Given the description of an element on the screen output the (x, y) to click on. 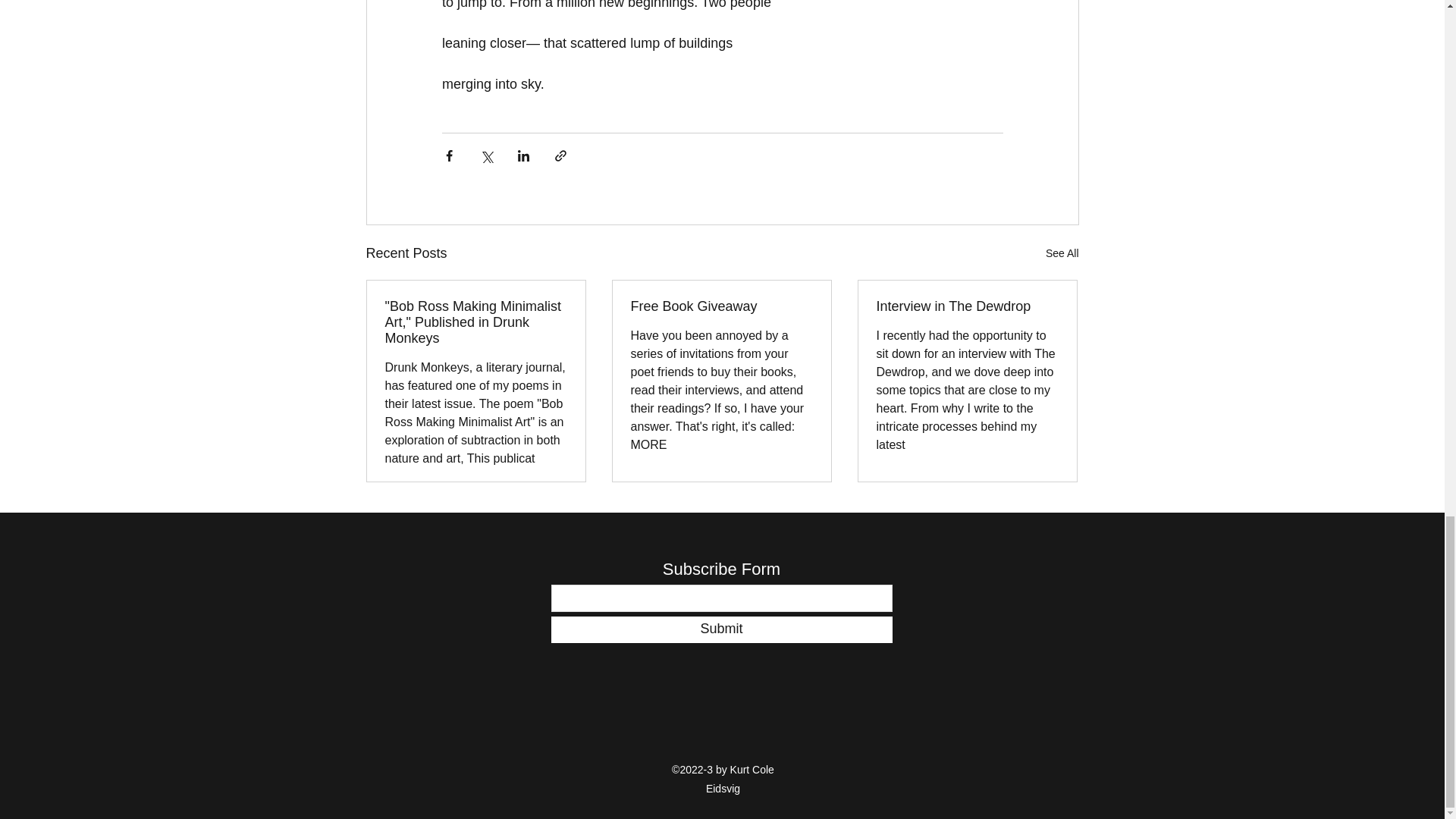
"Bob Ross Making Minimalist Art," Published in Drunk Monkeys (476, 322)
Submit (720, 628)
Interview in The Dewdrop (967, 306)
Free Book Giveaway (721, 306)
See All (1061, 253)
